Given the description of an element on the screen output the (x, y) to click on. 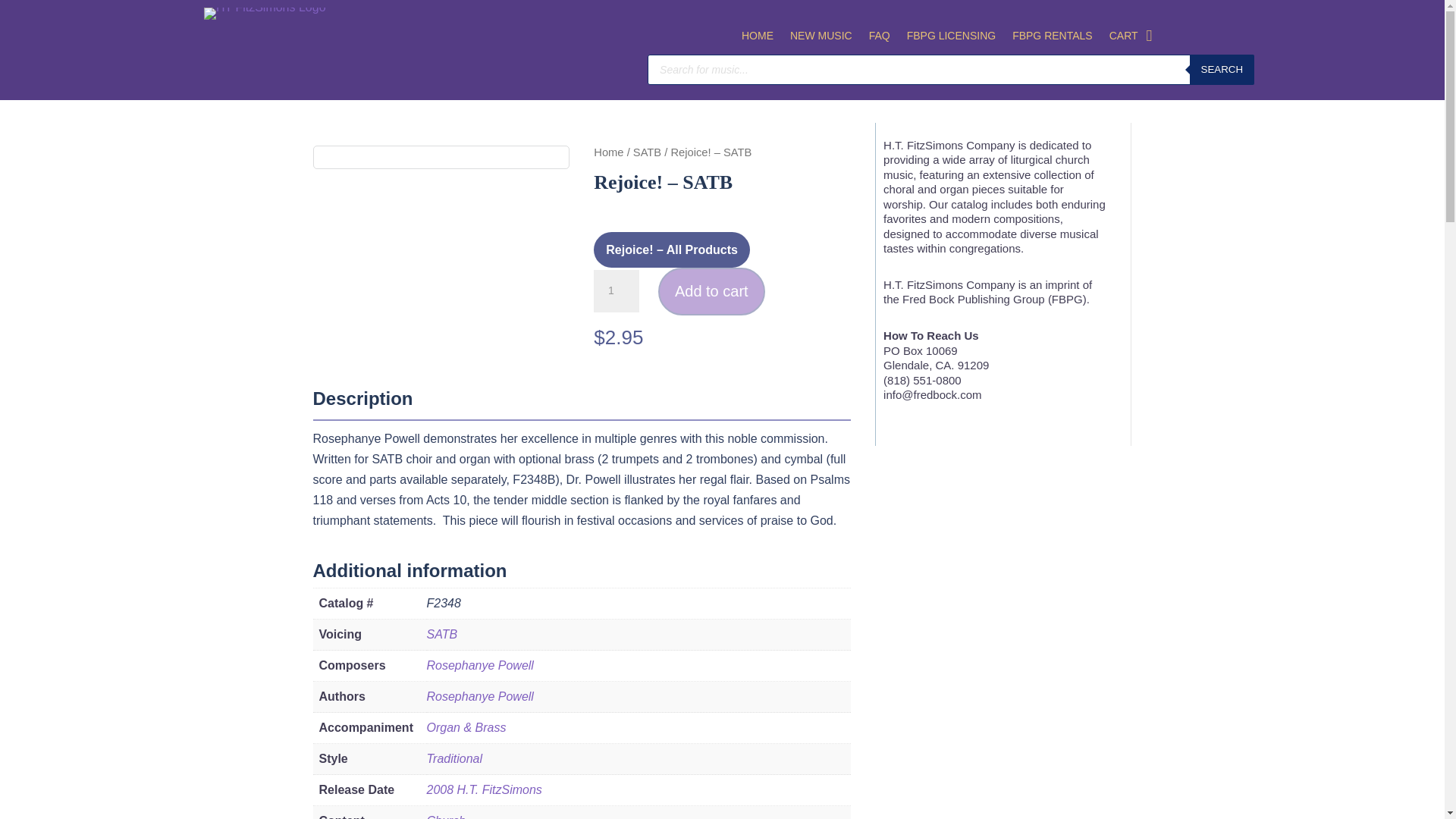
SEARCH (1222, 69)
FBPG RENTALS (1052, 38)
Church (445, 816)
Rosephanye Powell (479, 665)
Traditional (453, 758)
Home (608, 152)
1 (616, 291)
2008 H.T. FitzSimons (483, 789)
HTFitzSimons gold (264, 13)
SATB (441, 634)
Add to cart (711, 291)
NEW MUSIC (820, 38)
HOME (757, 38)
FBPG LICENSING (951, 38)
Rosephanye Powell (479, 696)
